Given the description of an element on the screen output the (x, y) to click on. 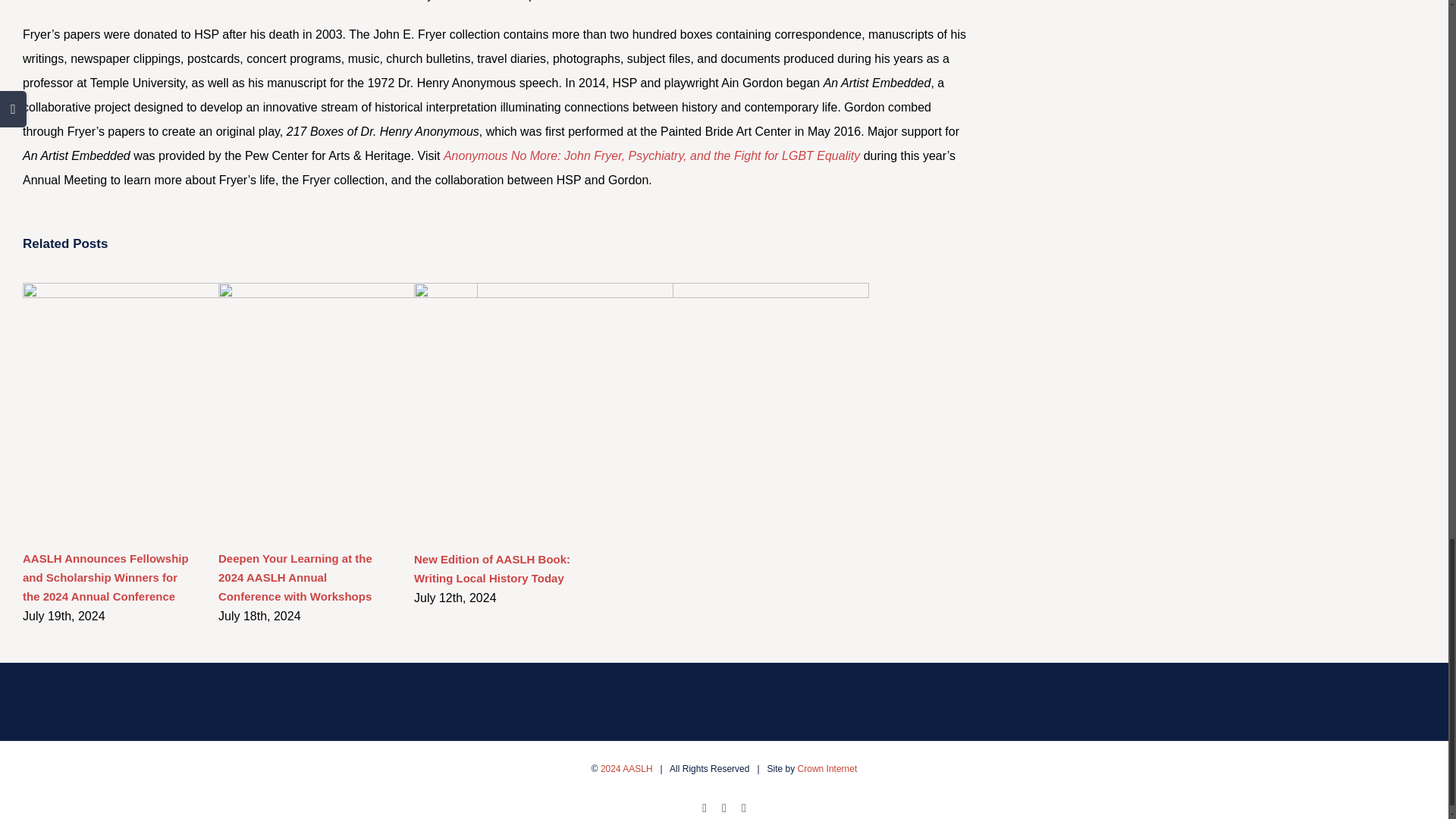
New Edition of AASLH Book: Writing Local History Today (491, 568)
